Given the description of an element on the screen output the (x, y) to click on. 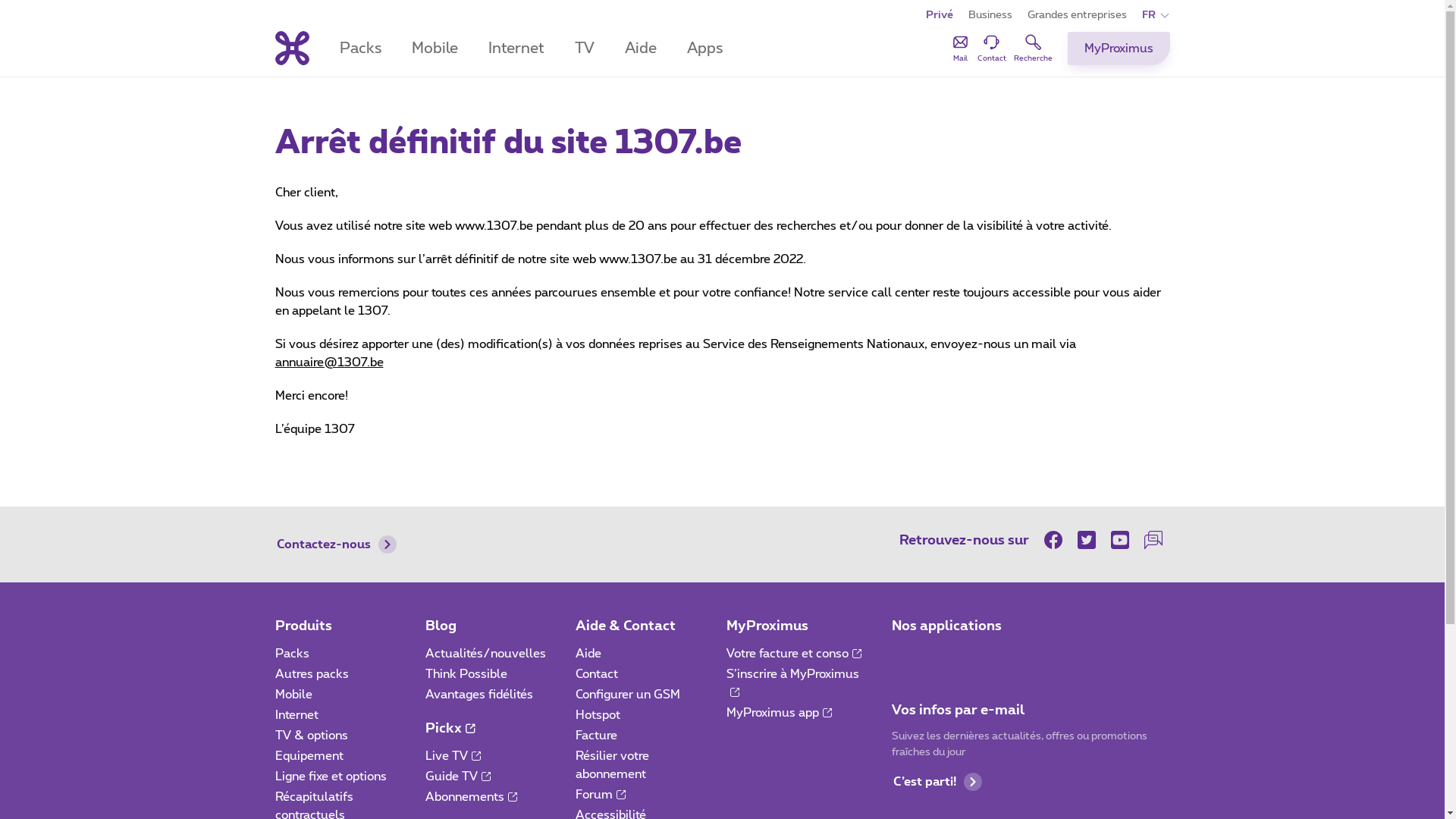
MyProximus app Element type: text (778, 712)
Mobile Element type: text (292, 694)
Mail Element type: text (959, 47)
Configurer un GSM Element type: text (627, 694)
Autres packs Element type: text (311, 674)
Hotspot Element type: text (597, 715)
Internet Element type: text (516, 48)
Think Possible Element type: text (466, 674)
TV & options Element type: text (310, 735)
Apps Element type: text (704, 48)
Contactez-nous Element type: text (335, 544)
MyProximus Element type: text (1118, 48)
Mobile Element type: text (434, 48)
Equipement Element type: text (308, 755)
Abonnements Element type: text (471, 796)
Nos applications Element type: text (946, 626)
Grandes entreprises Element type: text (1076, 14)
Internet Element type: text (295, 715)
Contact Element type: text (990, 47)
Live TV Element type: text (452, 755)
TV Element type: text (584, 48)
Business Element type: text (989, 14)
Forum Element type: text (600, 794)
Votre facture et conso Element type: text (793, 653)
MyProximus Element type: text (767, 626)
Packs Element type: text (360, 48)
Ligne fixe et options Element type: text (329, 776)
Guide TV Element type: text (457, 776)
Contact Element type: text (596, 674)
Aide Element type: text (588, 653)
Facture Element type: text (596, 735)
Packs Element type: text (291, 653)
Aide Element type: text (640, 48)
Recherche Element type: text (1032, 47)
Pickx Element type: text (449, 728)
FR Element type: text (1156, 15)
annuaire@1307.be Element type: text (328, 362)
